Given the description of an element on the screen output the (x, y) to click on. 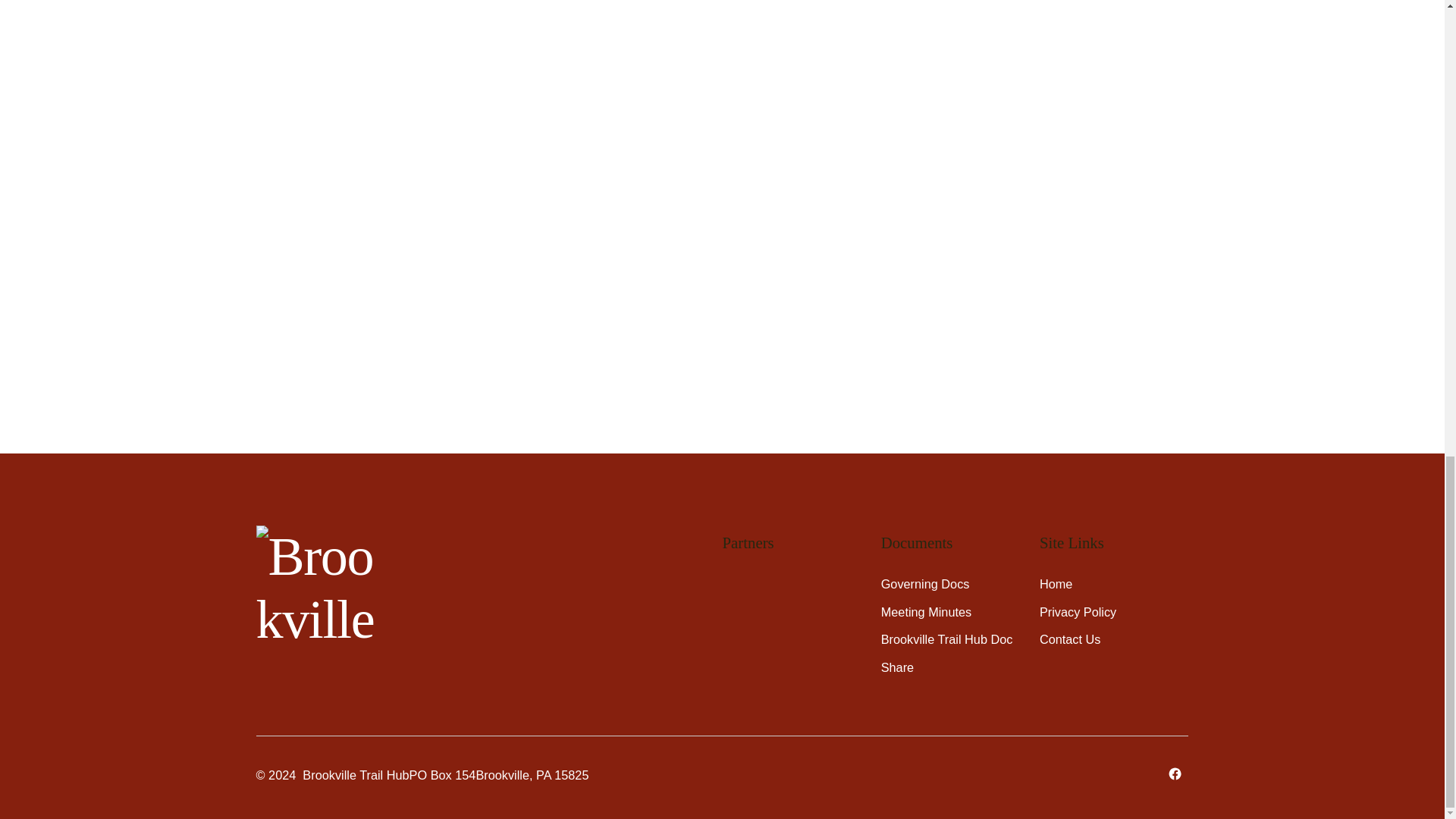
Contact Us (1069, 639)
Open Facebook in a new tab (1174, 773)
Brookville Trail Hub Doc Share (946, 653)
Governing Docs (924, 583)
Meeting Minutes (925, 612)
Home (1055, 583)
Privacy Policy (1077, 612)
